Given the description of an element on the screen output the (x, y) to click on. 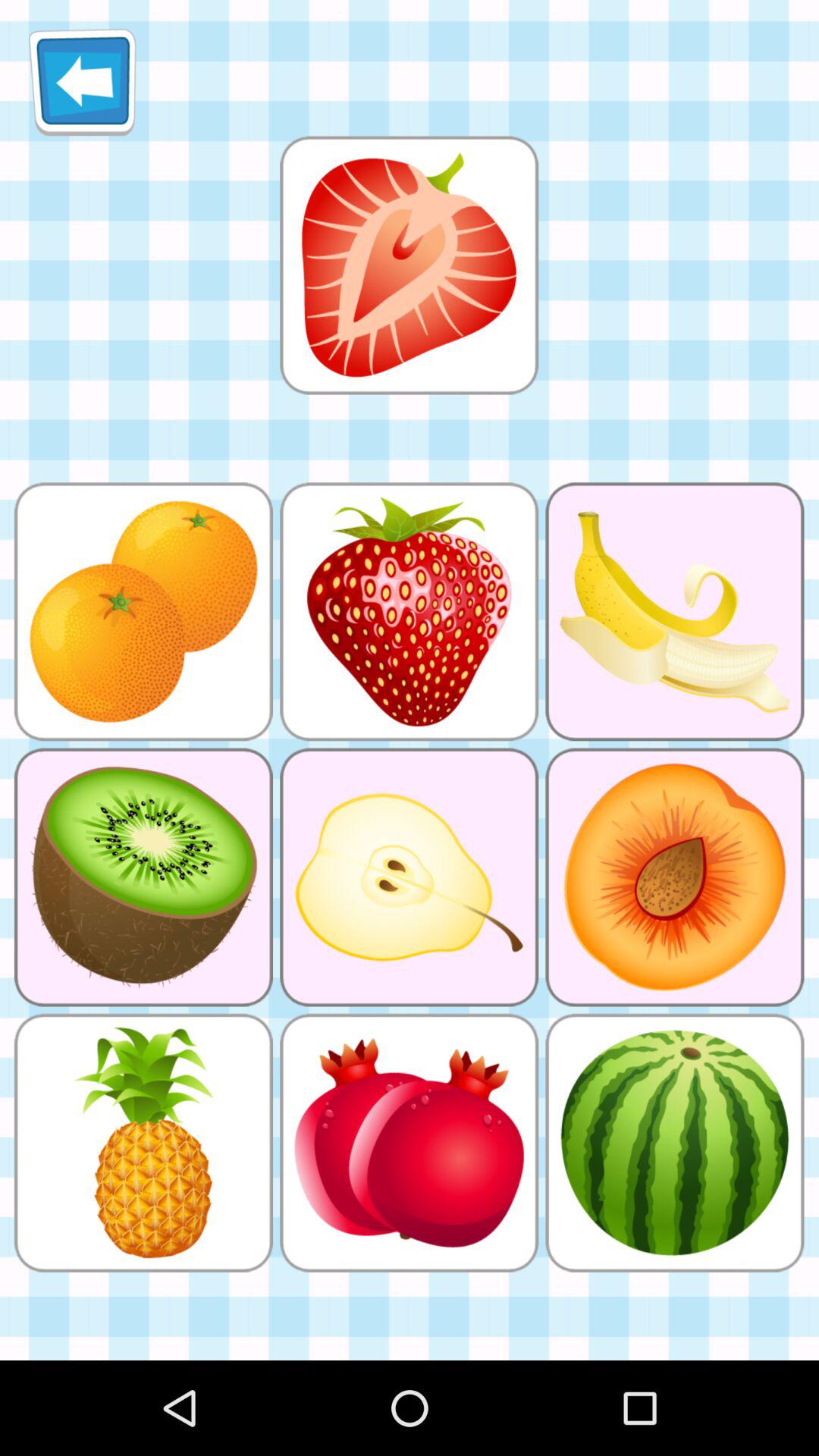
add option (409, 265)
